Given the description of an element on the screen output the (x, y) to click on. 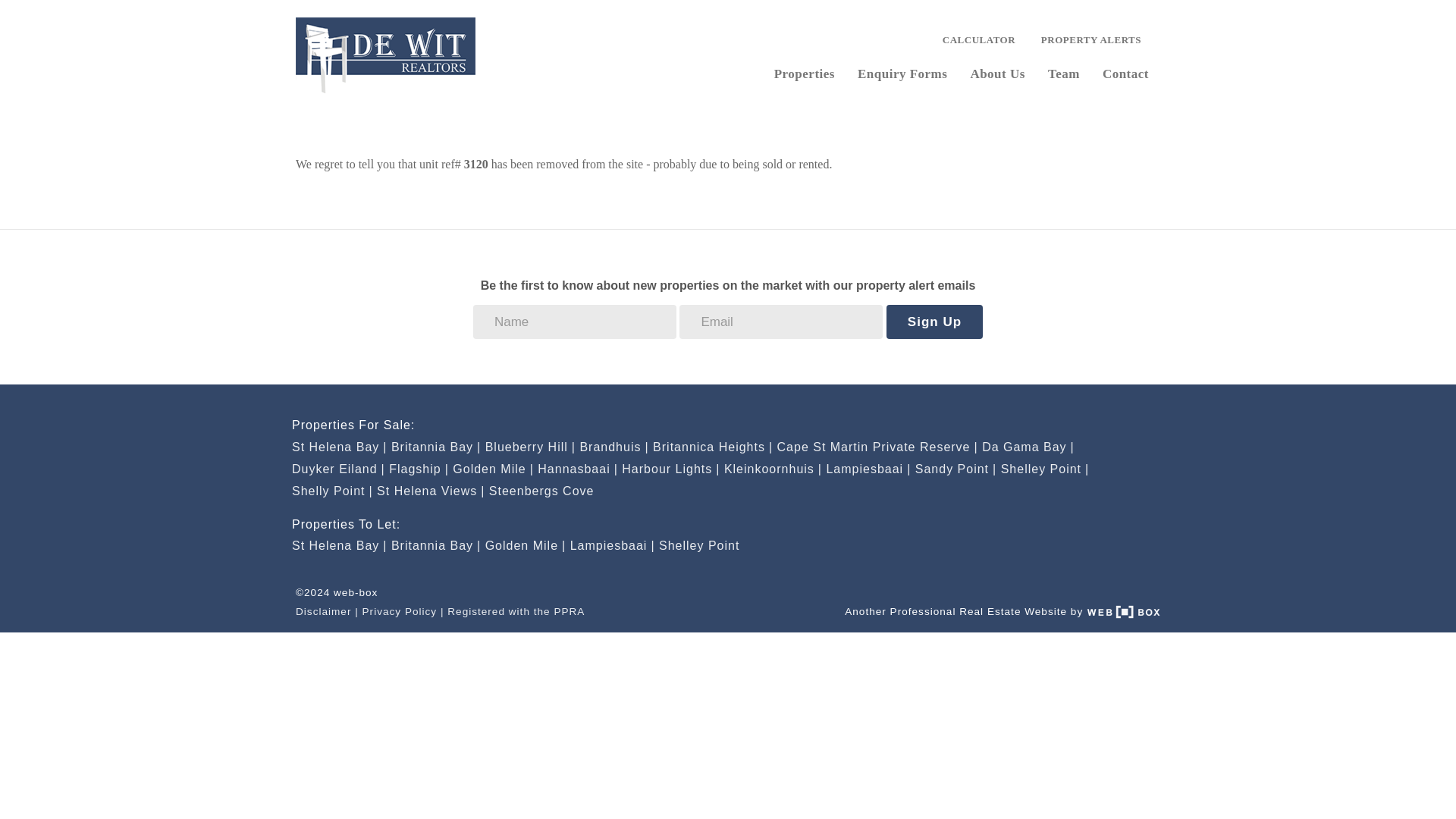
Properties for sale in Hannasbaai, St Helena Bay (577, 468)
Properties for sale in Brandhuis, St Helena Bay (613, 446)
Properties for sale in Britannica Heights, St Helena Bay (712, 446)
Properties for sale in St Helena Views, St Helena Bay (430, 490)
Properties for sale in Shelley Point, St Helena Bay (1045, 468)
De Wit Realtors, Estate Agency Logo (385, 55)
Properties for sale in Shelly Point, St Helena Bay (332, 490)
Properties for sale in Kleinkoornhuis, St Helena Bay (772, 468)
Properties for sale in Flagship, St Helena Bay (418, 468)
Properties for sale in Duyker Eiland, St Helena Bay (338, 468)
Properties for sale in St Helena Bay (339, 446)
Properties for sale in Britannia Bay (435, 446)
Properties for sale in Blueberry Hill, St Helena Bay (529, 446)
Properties for sale in Da Gama Bay, St Helena Bay (1027, 446)
Properties for sale in Steenbergs Cove, St Helena Bay (541, 490)
